Given the description of an element on the screen output the (x, y) to click on. 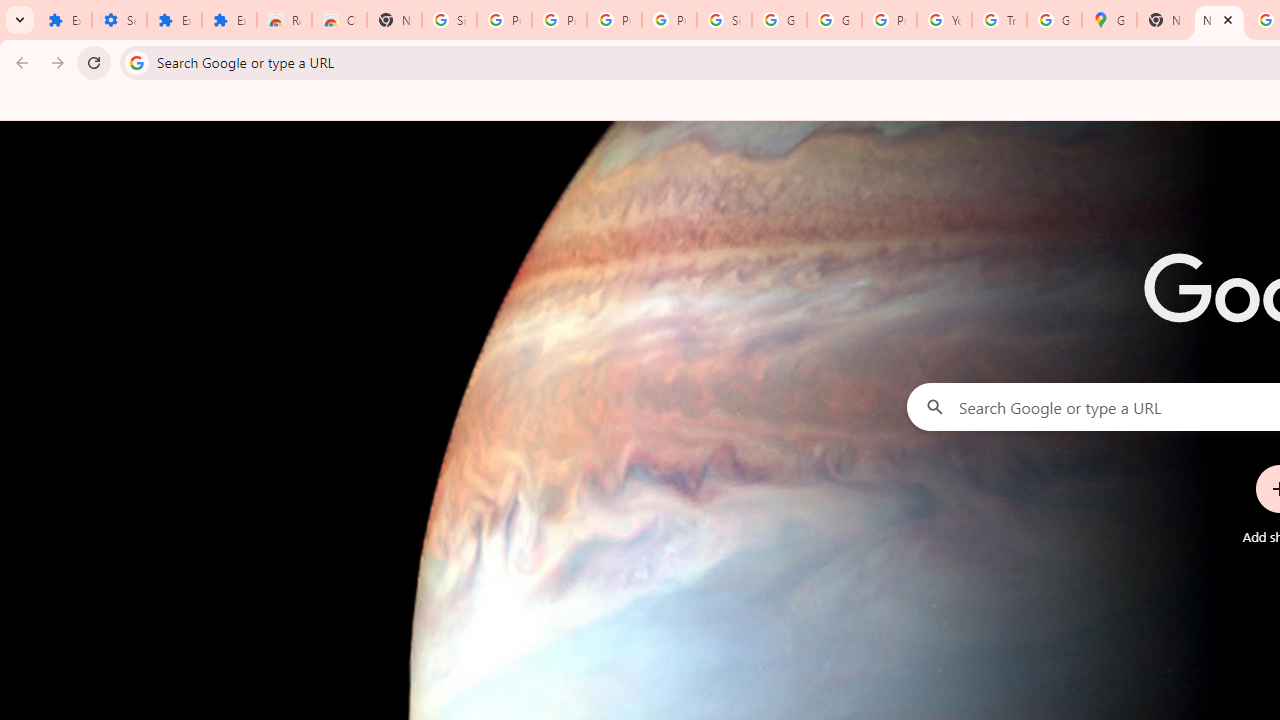
New Tab (1163, 20)
Reviews: Helix Fruit Jump Arcade Game (284, 20)
Extensions (229, 20)
New Tab (394, 20)
Extensions (174, 20)
Settings (119, 20)
Sign in - Google Accounts (449, 20)
